Given the description of an element on the screen output the (x, y) to click on. 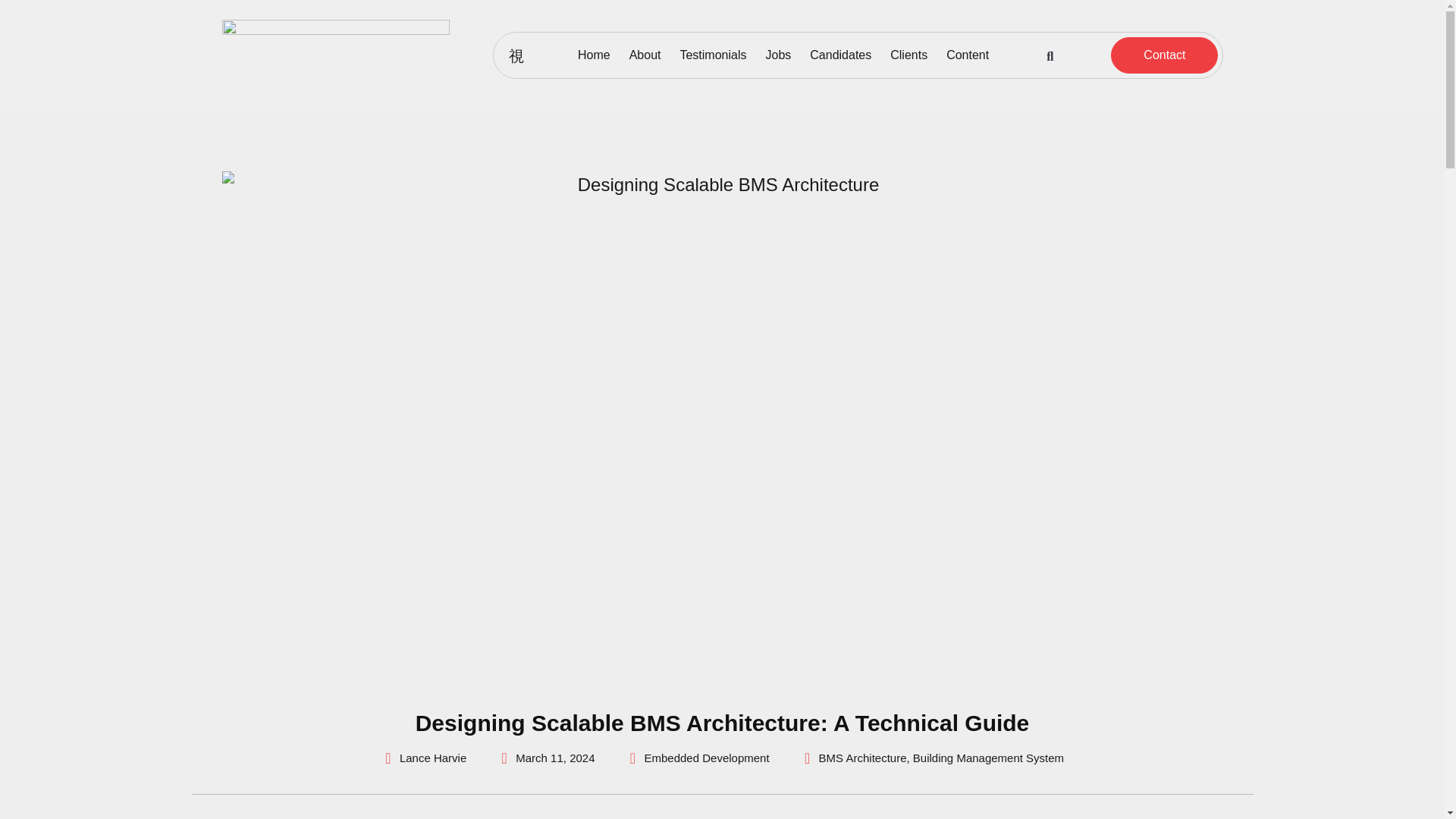
Content (967, 55)
Clients (908, 55)
Embedded Development (707, 757)
Building Management System (988, 757)
Contact (1163, 54)
BMS Architecture (862, 757)
Testimonials (712, 55)
Candidates (839, 55)
Lance Harvie (422, 758)
March 11, 2024 (545, 758)
